Given the description of an element on the screen output the (x, y) to click on. 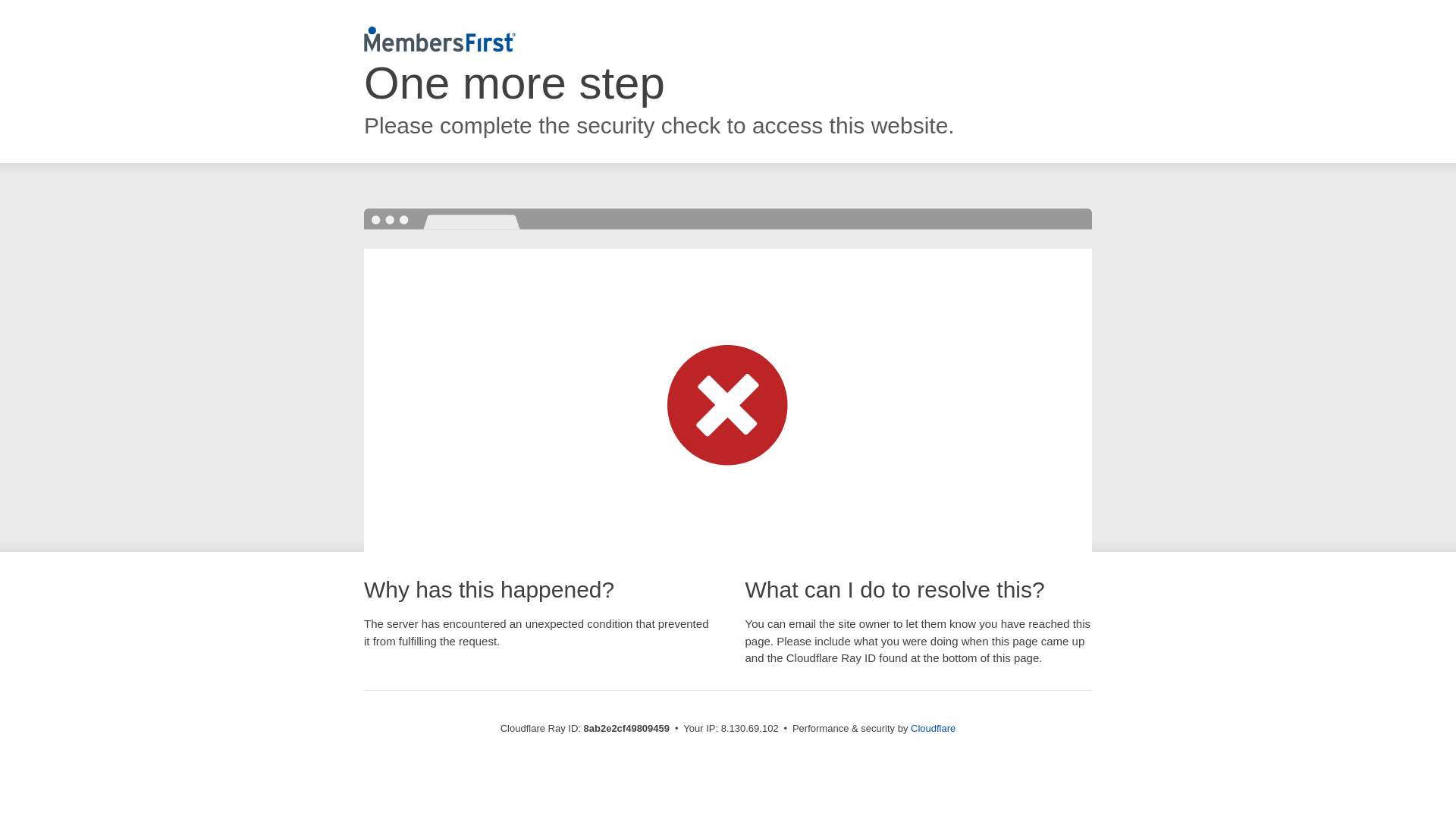
Cloudflare (933, 727)
